Given the description of an element on the screen output the (x, y) to click on. 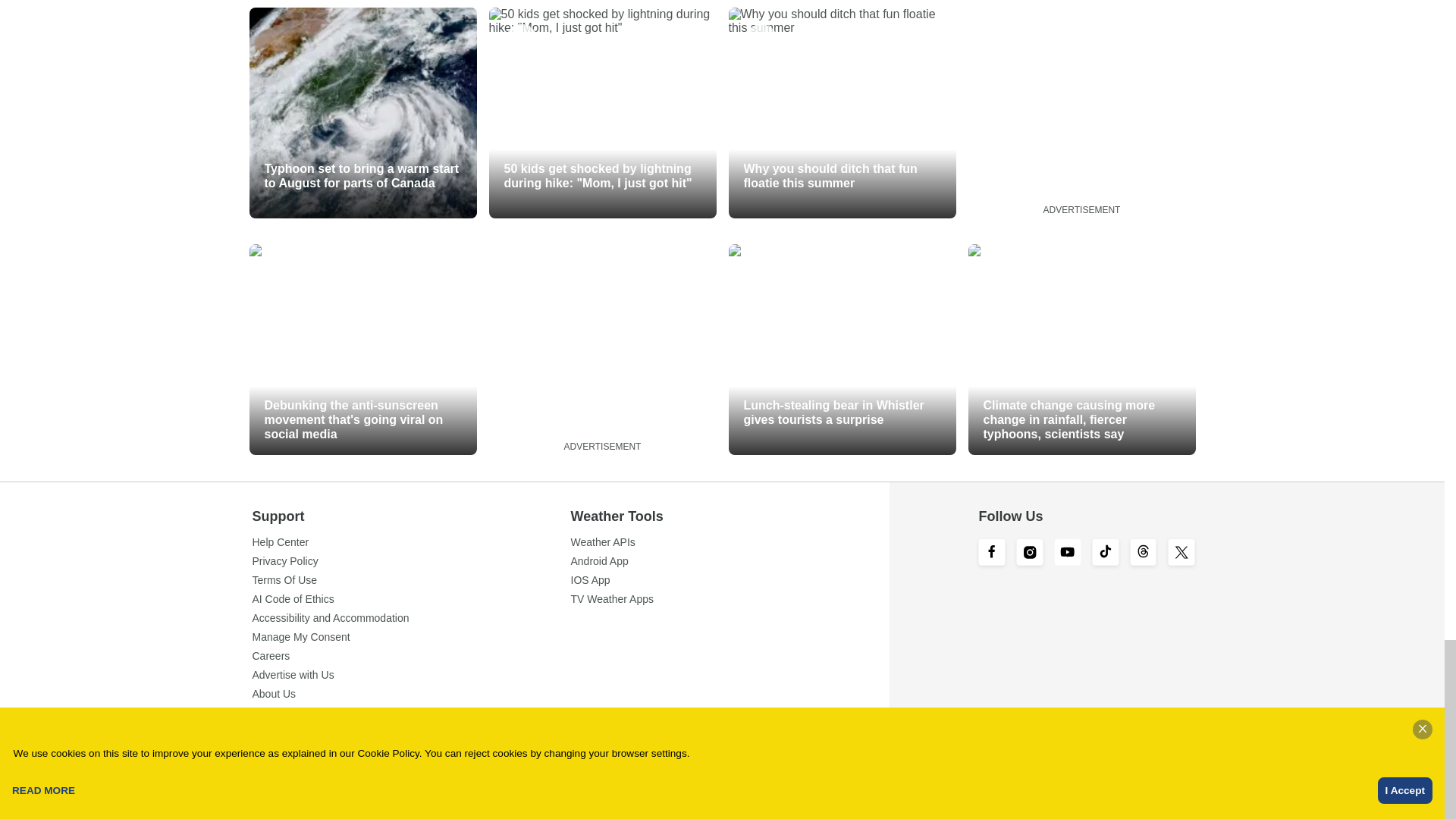
Help Center (410, 542)
AI Code of Ethics (410, 598)
Careers (410, 655)
Manage My Consent (410, 636)
Privacy Policy (410, 561)
Lunch-stealing bear in Whistler gives tourists a surprise (841, 349)
Terms Of Use (410, 579)
Why you should ditch that fun floatie this summer (841, 112)
Accessibility and Accommodation (410, 617)
